Given the description of an element on the screen output the (x, y) to click on. 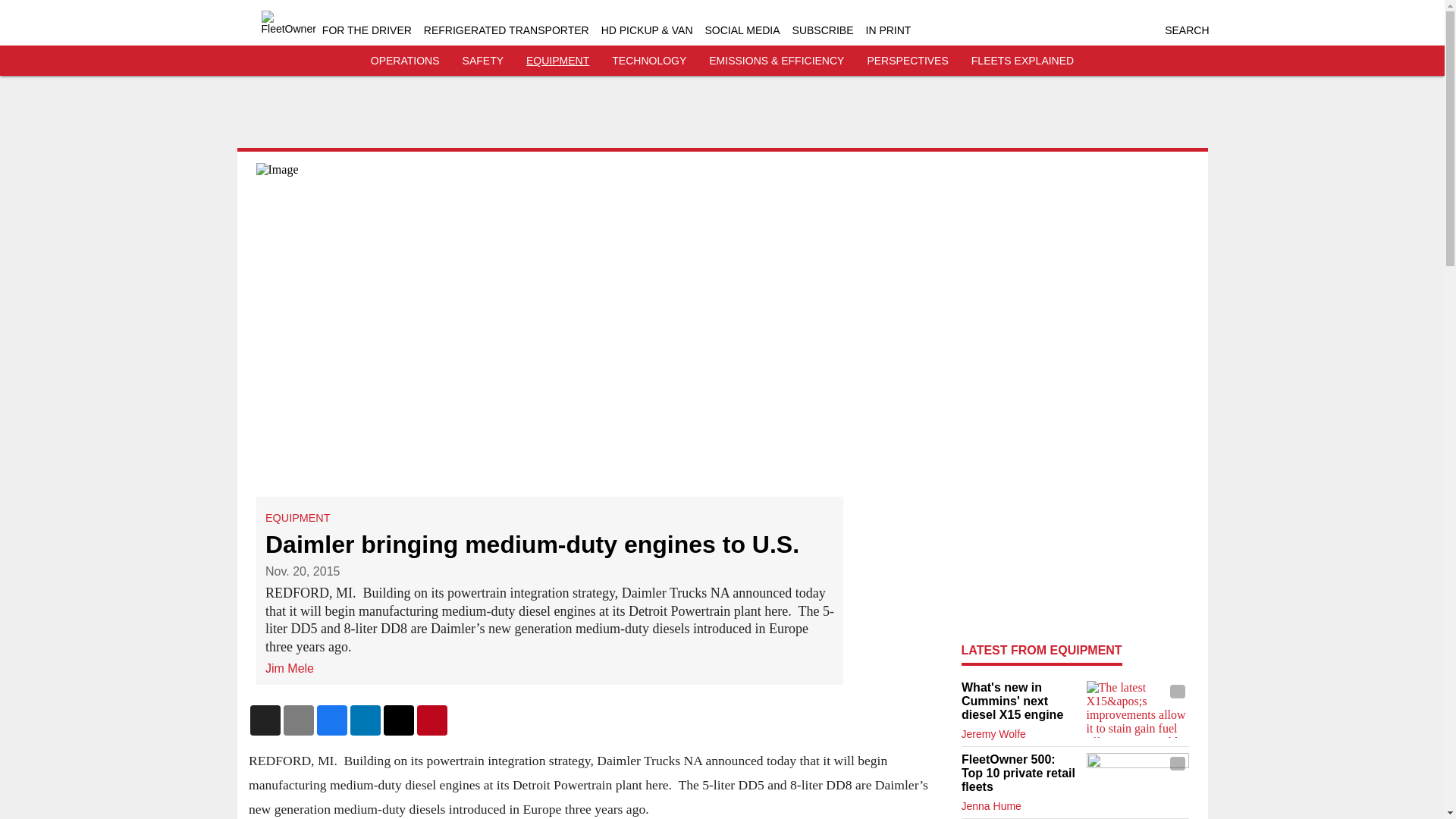
SOCIAL MEDIA (742, 30)
IN PRINT (888, 30)
REFRIGERATED TRANSPORTER (506, 30)
PERSPECTIVES (906, 60)
TECHNOLOGY (648, 60)
FOR THE DRIVER (366, 30)
SEARCH (1186, 30)
FLEETS EXPLAINED (1022, 60)
Jim Mele (289, 667)
